Given the description of an element on the screen output the (x, y) to click on. 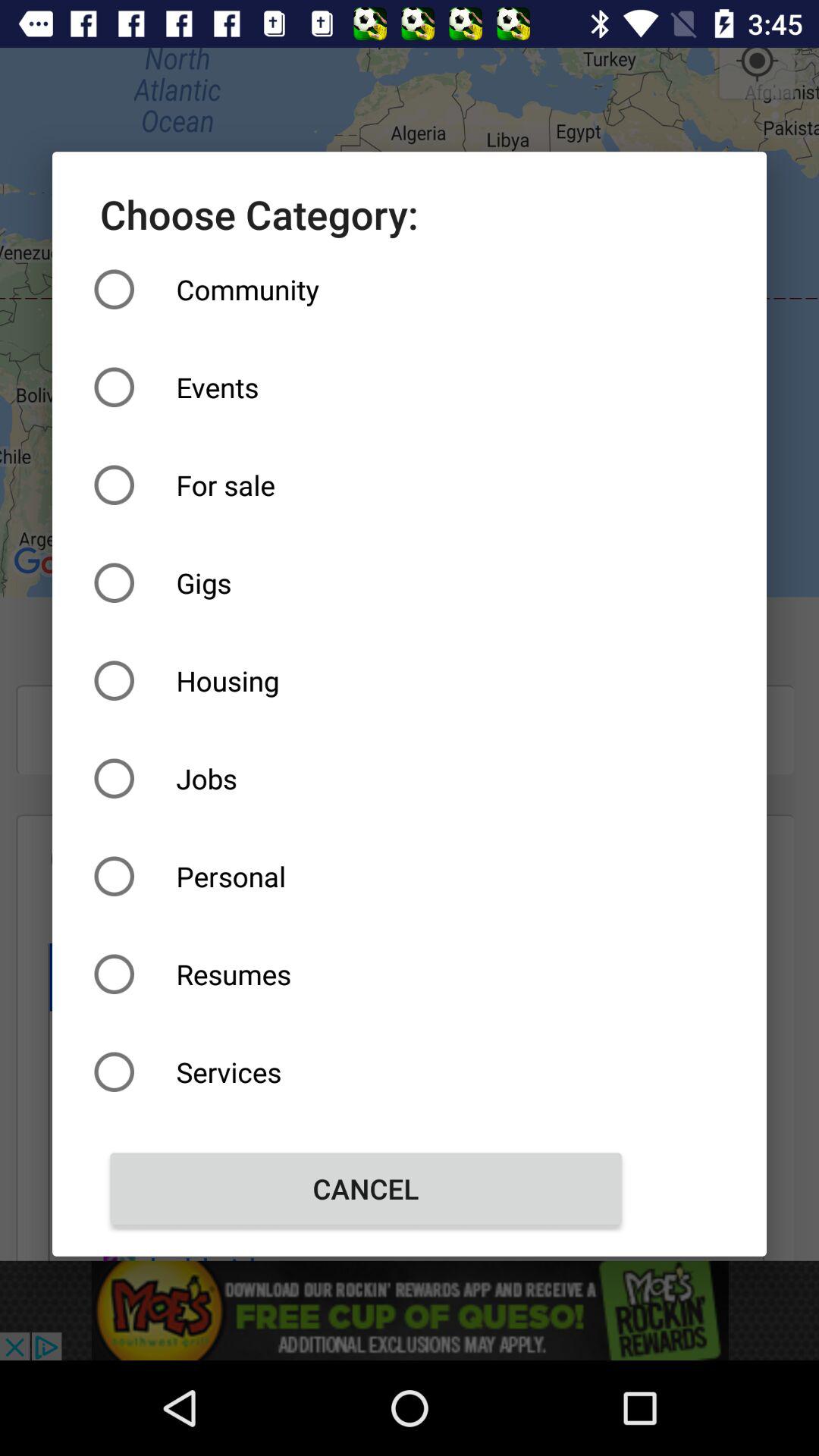
swipe until services (365, 1072)
